Given the description of an element on the screen output the (x, y) to click on. 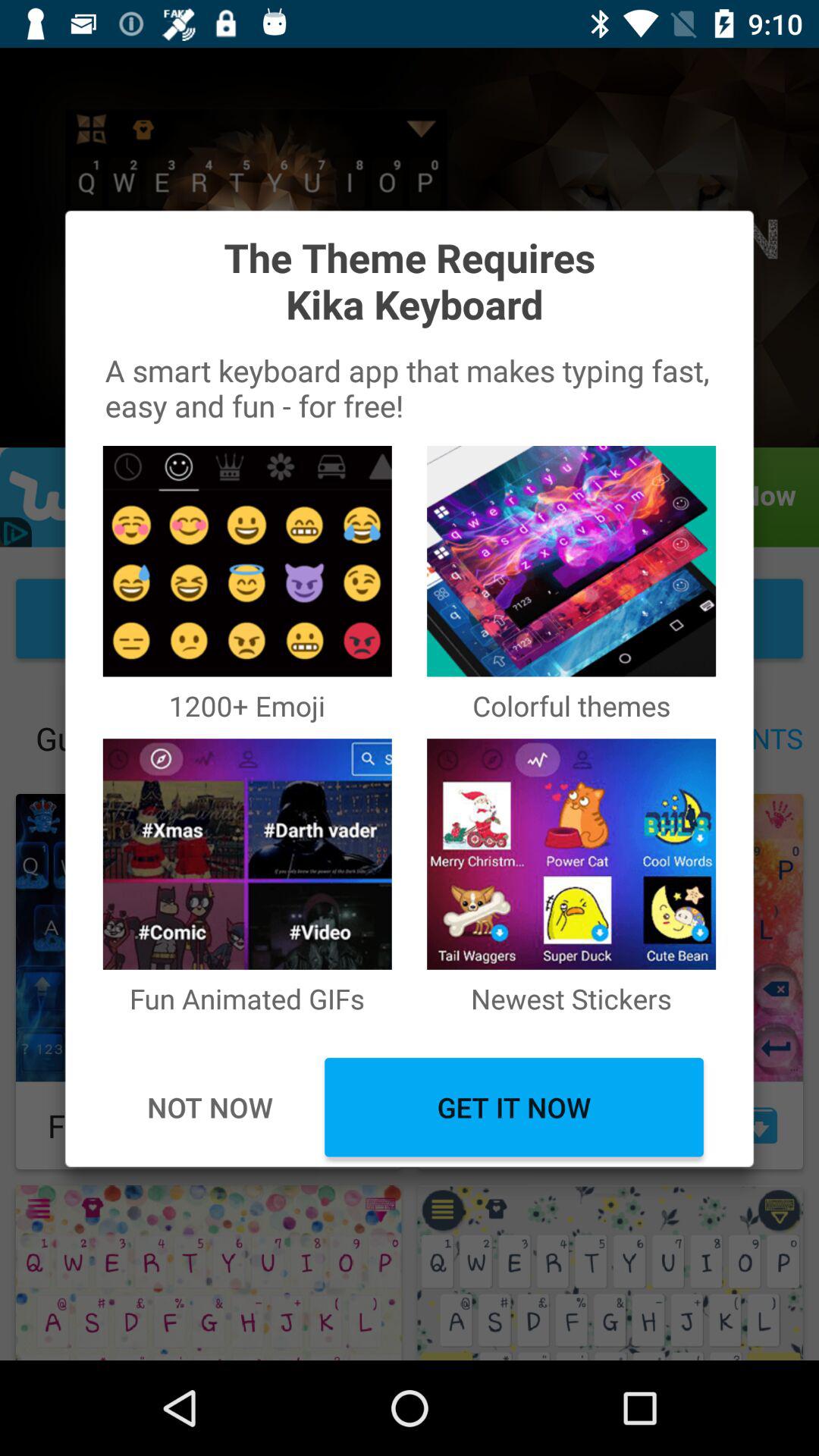
tap the item below the fun animated gifs (513, 1106)
